Given the description of an element on the screen output the (x, y) to click on. 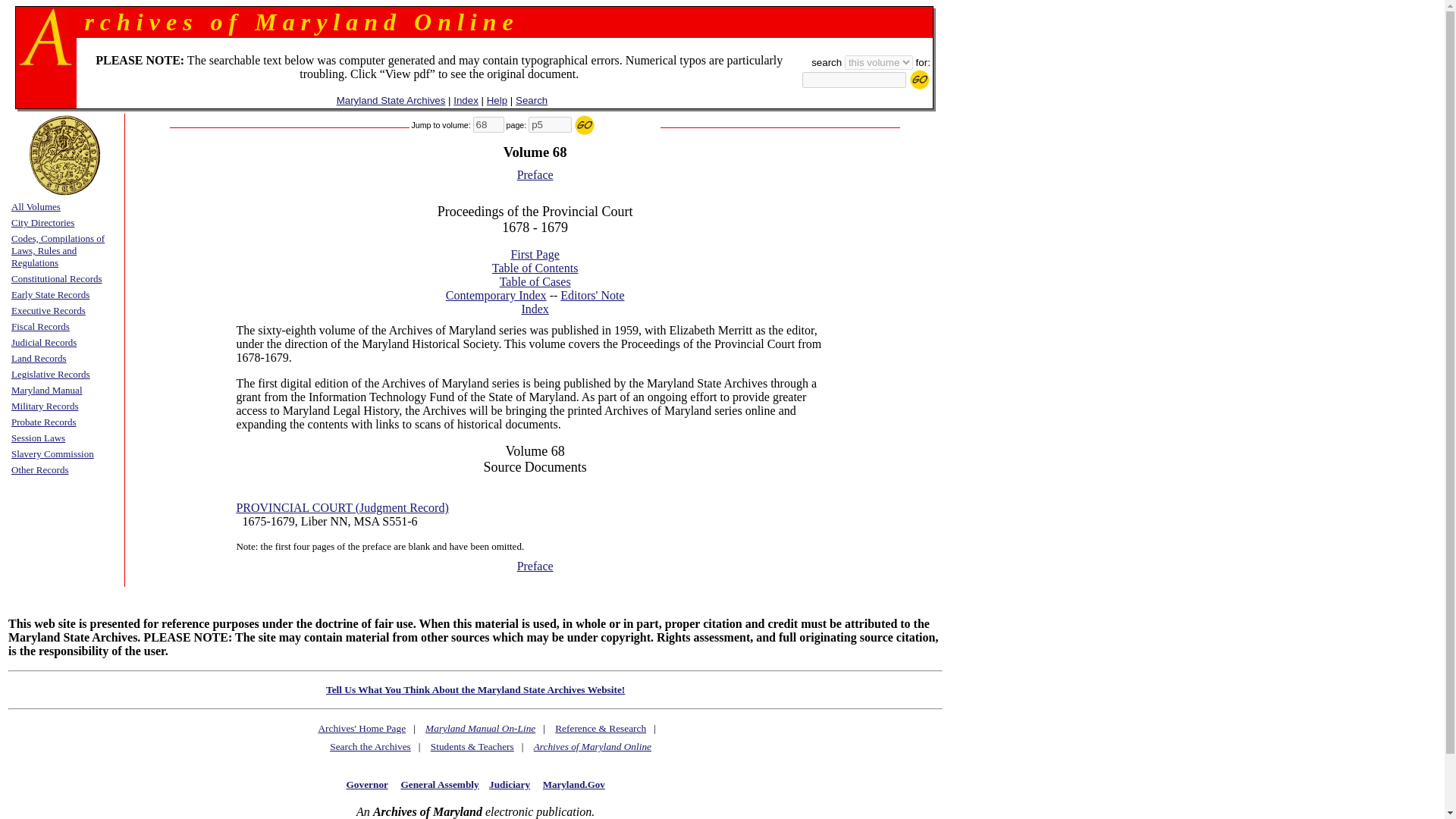
Index (465, 100)
City Directories (42, 221)
Military Records (44, 404)
Judiciary (509, 784)
Probate Records (44, 420)
Executive Records (48, 309)
Legislative Records (50, 373)
Table of Contents (535, 267)
Table of Cases (534, 281)
General Assembly (439, 784)
